Given the description of an element on the screen output the (x, y) to click on. 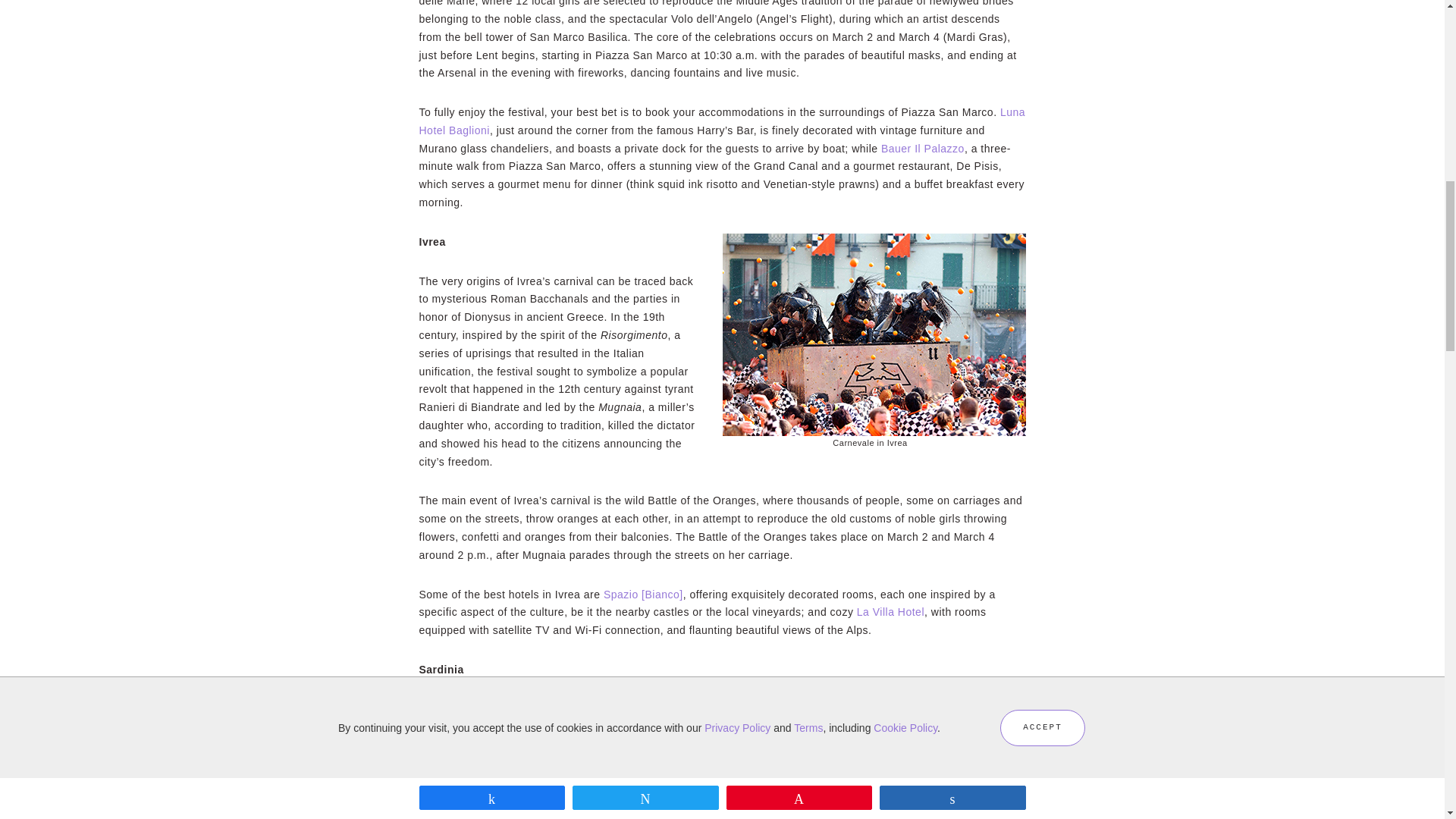
Bauer Il Palazzo (921, 148)
La Villa Hotel (890, 612)
Luna Hotel Baglioni (722, 121)
